Given the description of an element on the screen output the (x, y) to click on. 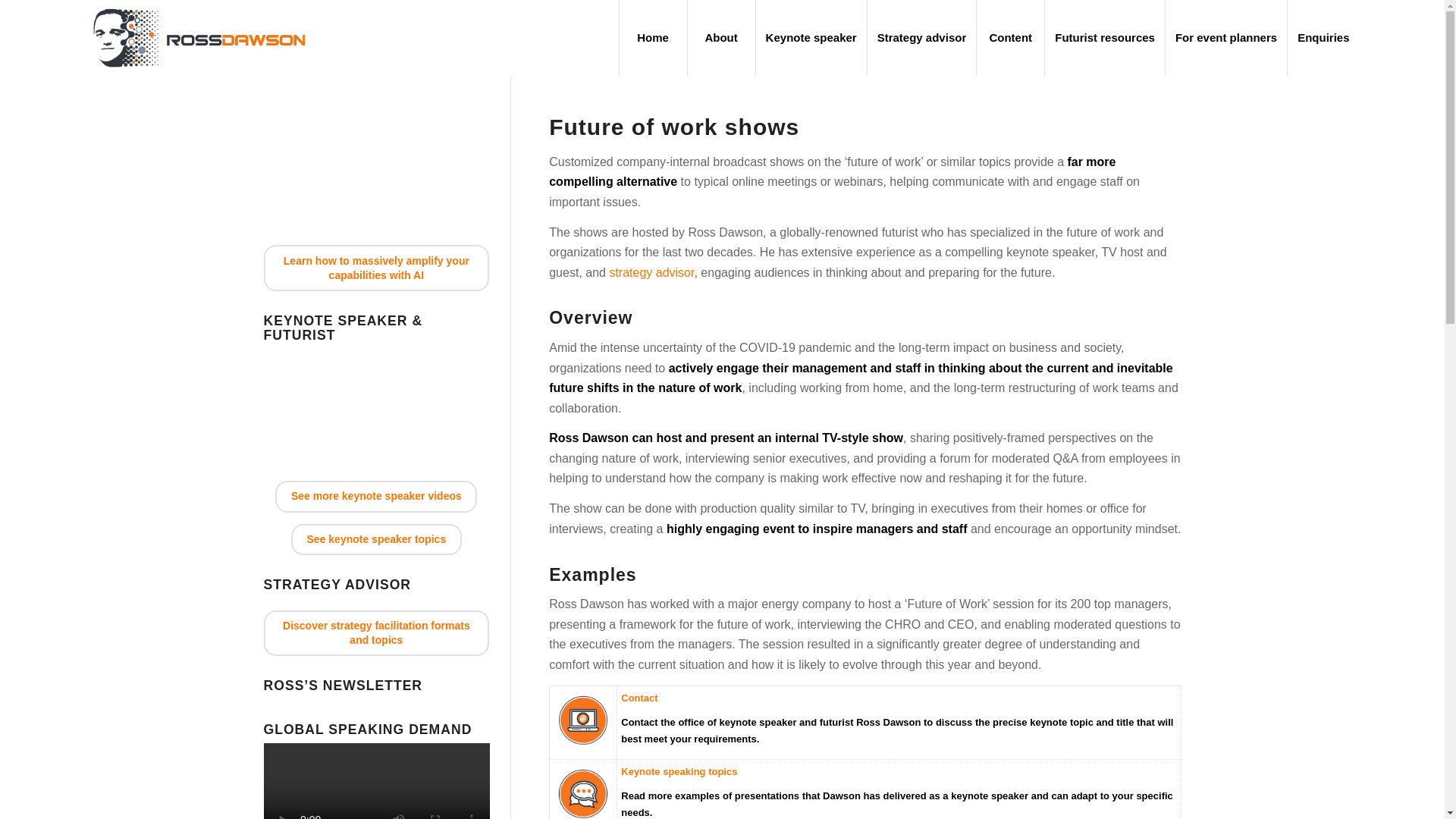
About (721, 38)
Content (1009, 38)
Keynote speaker (810, 38)
Home (652, 38)
Strategy advisor (921, 38)
Futurist resources (1103, 38)
